Given the description of an element on the screen output the (x, y) to click on. 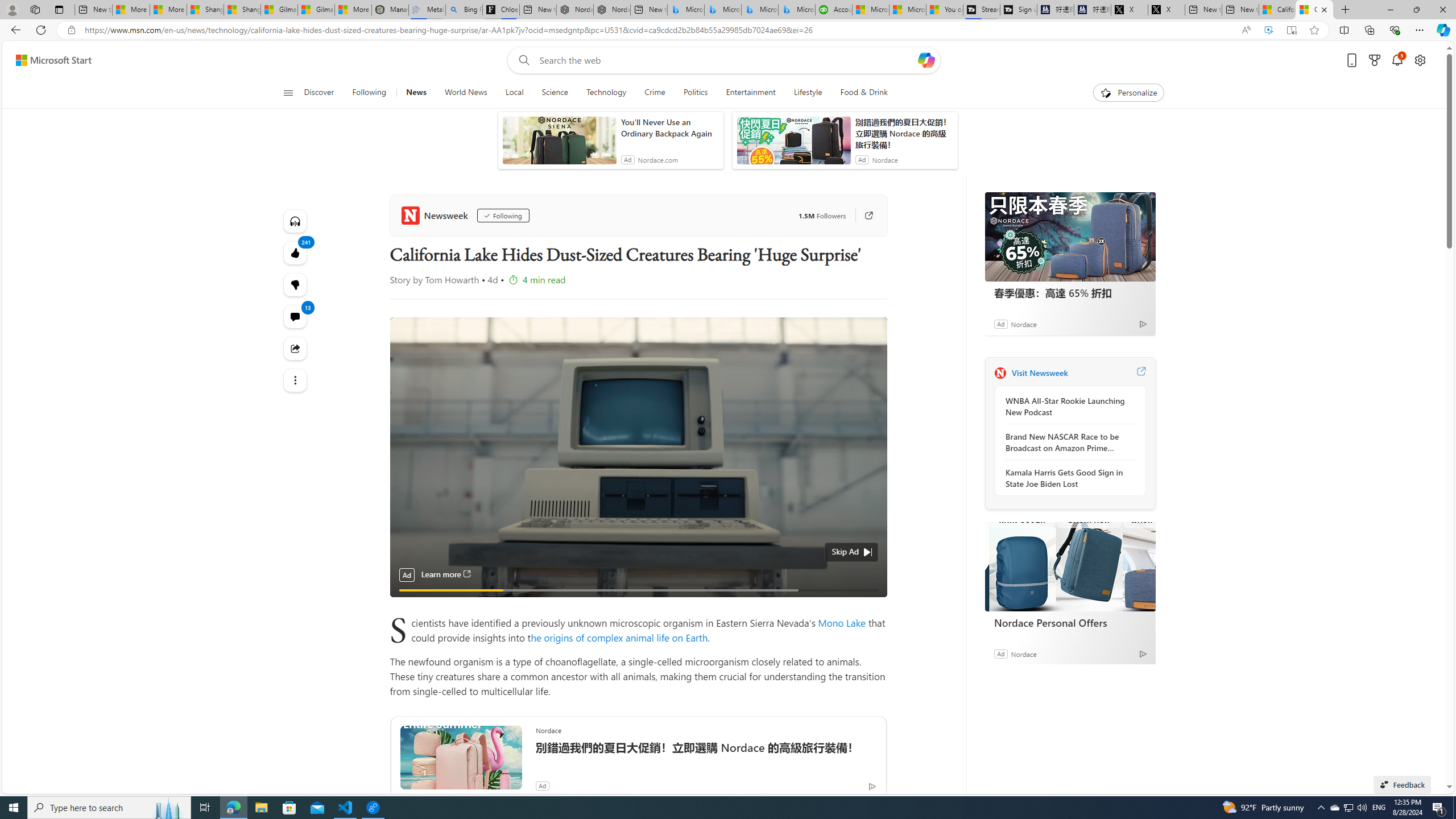
Enter your search term (726, 59)
Mono Lake (842, 621)
video progress bar (637, 589)
he origins of complex animal life on Earth (618, 636)
